Given the description of an element on the screen output the (x, y) to click on. 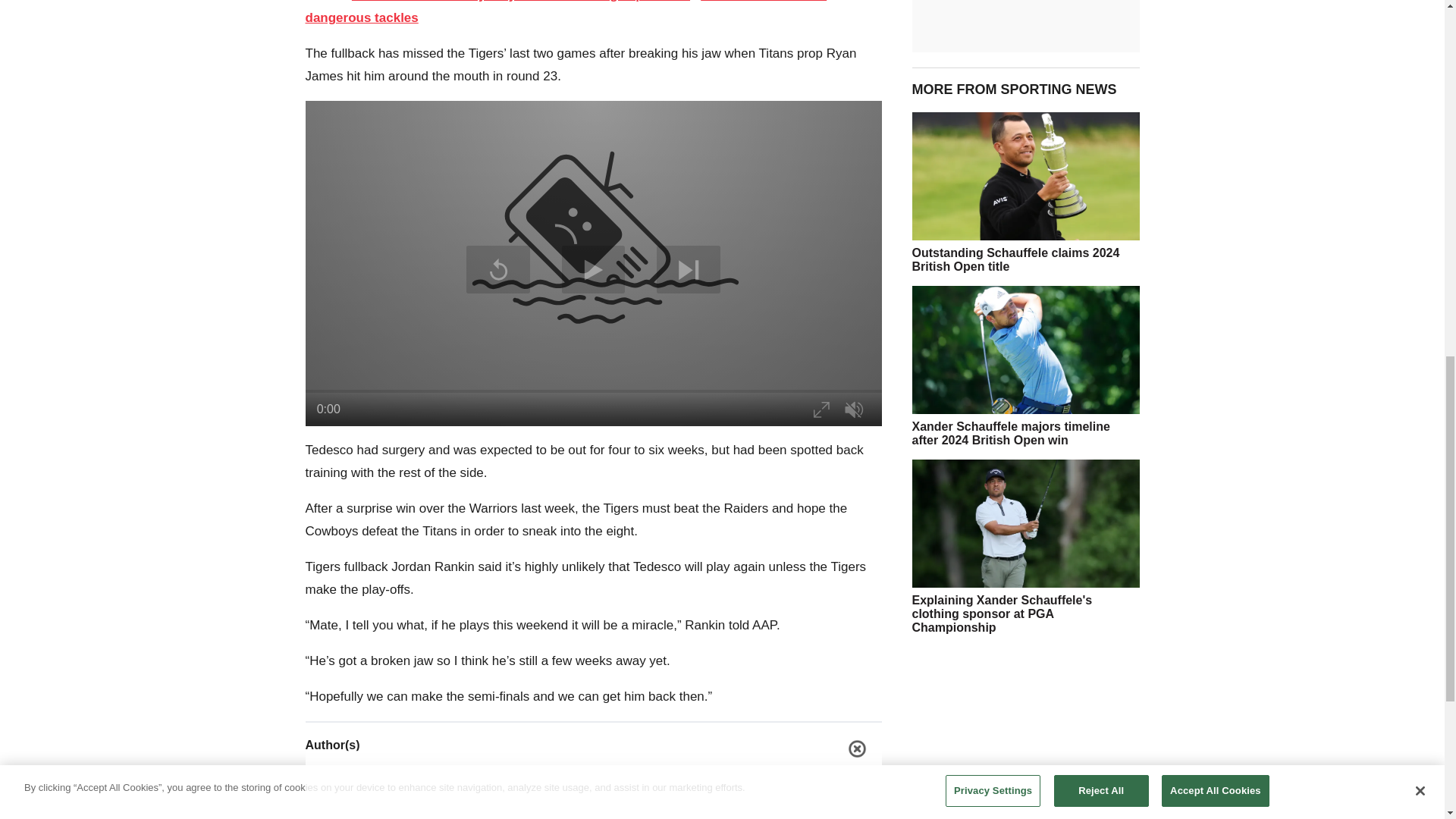
American Xander Schauffele (1024, 349)
Xander Schauffele (1024, 523)
3rd party ad content (1024, 733)
